Given the description of an element on the screen output the (x, y) to click on. 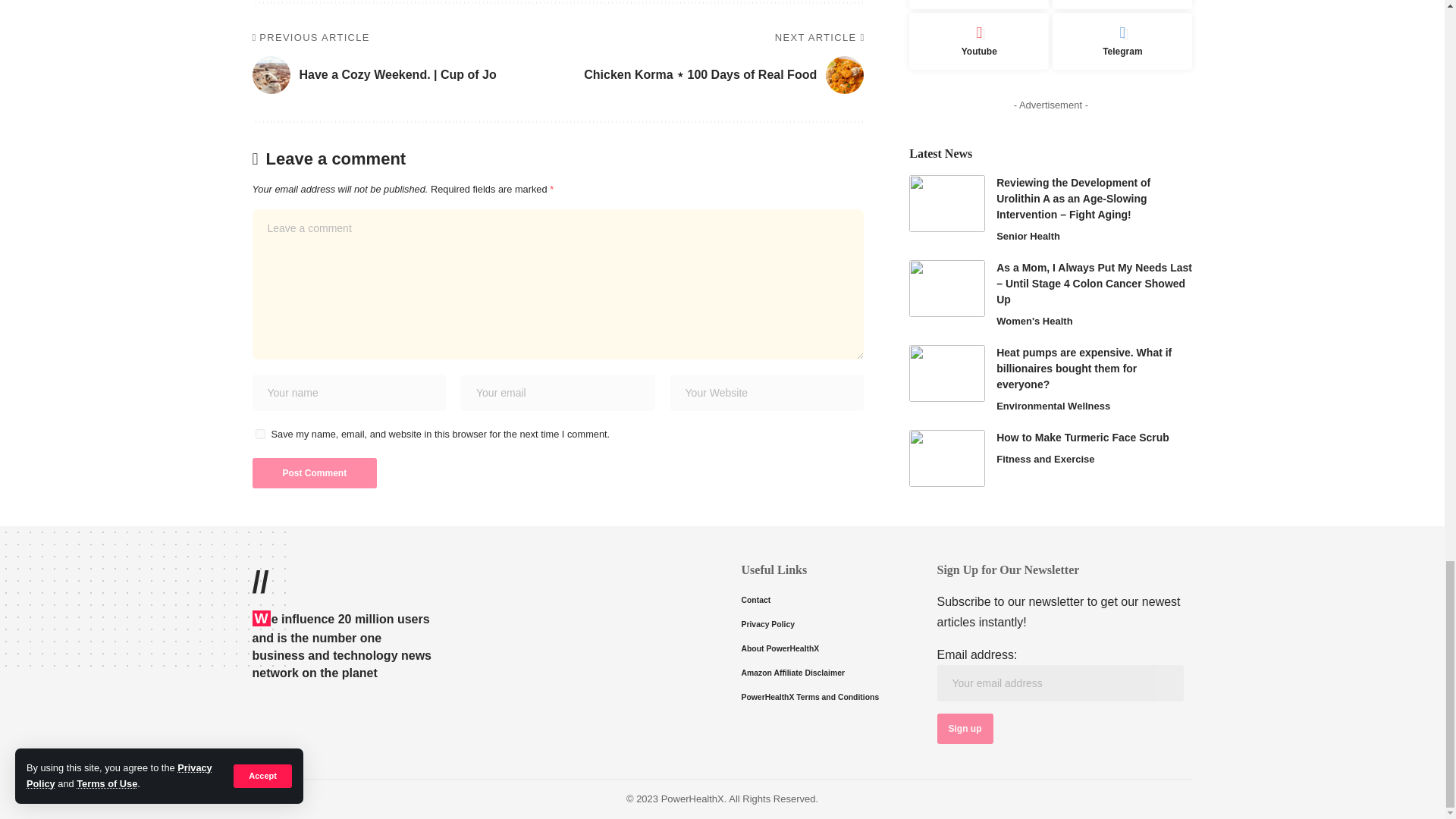
Post Comment (314, 472)
Sign up (964, 728)
yes (259, 433)
